Given the description of an element on the screen output the (x, y) to click on. 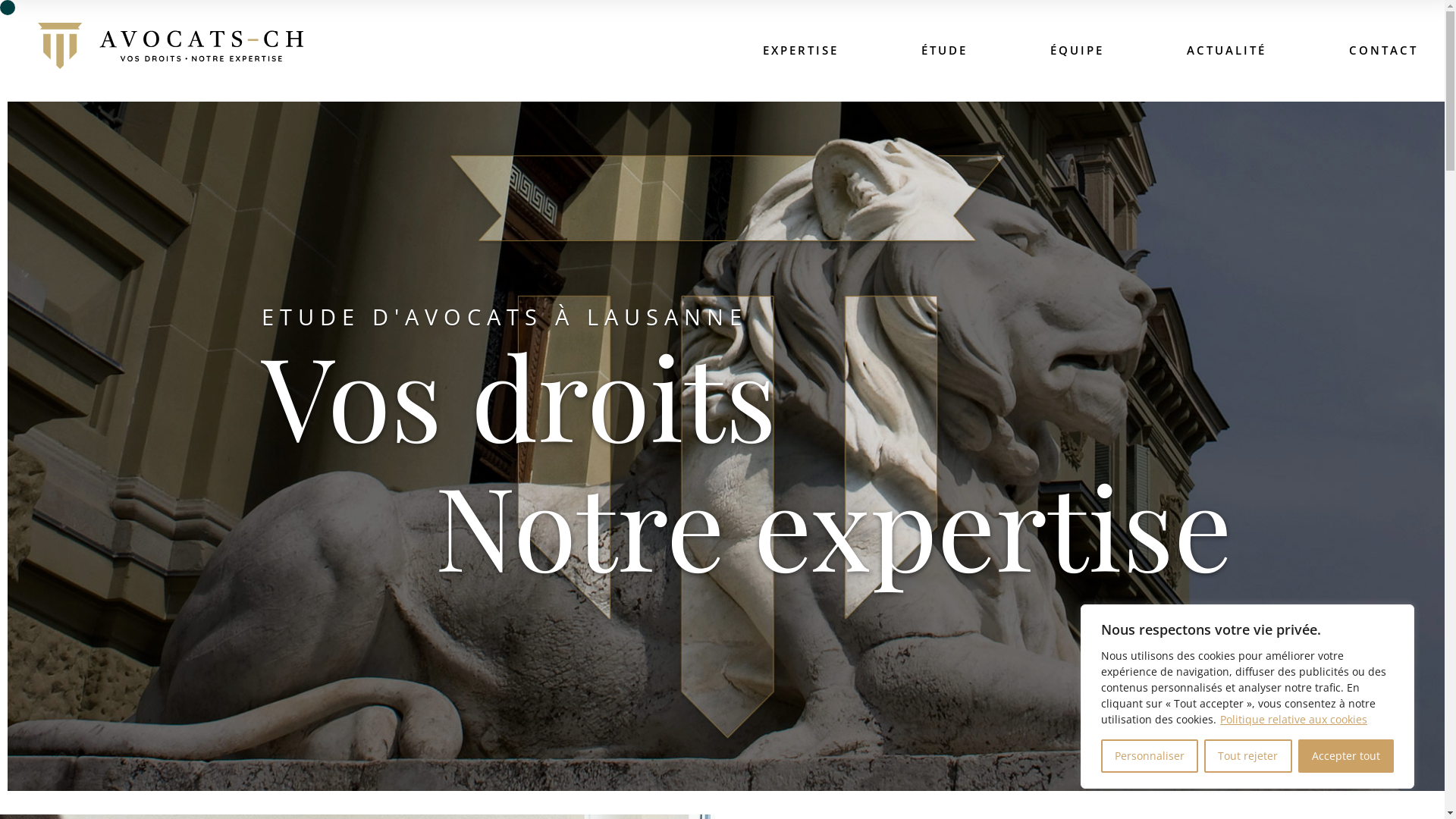
Accepter tout Element type: text (1345, 755)
Personnaliser Element type: text (1149, 755)
CONTACT Element type: text (1383, 49)
Tout rejeter Element type: text (1247, 755)
Politique relative aux cookies Element type: text (1293, 719)
EXPERTISE Element type: text (800, 49)
